Given the description of an element on the screen output the (x, y) to click on. 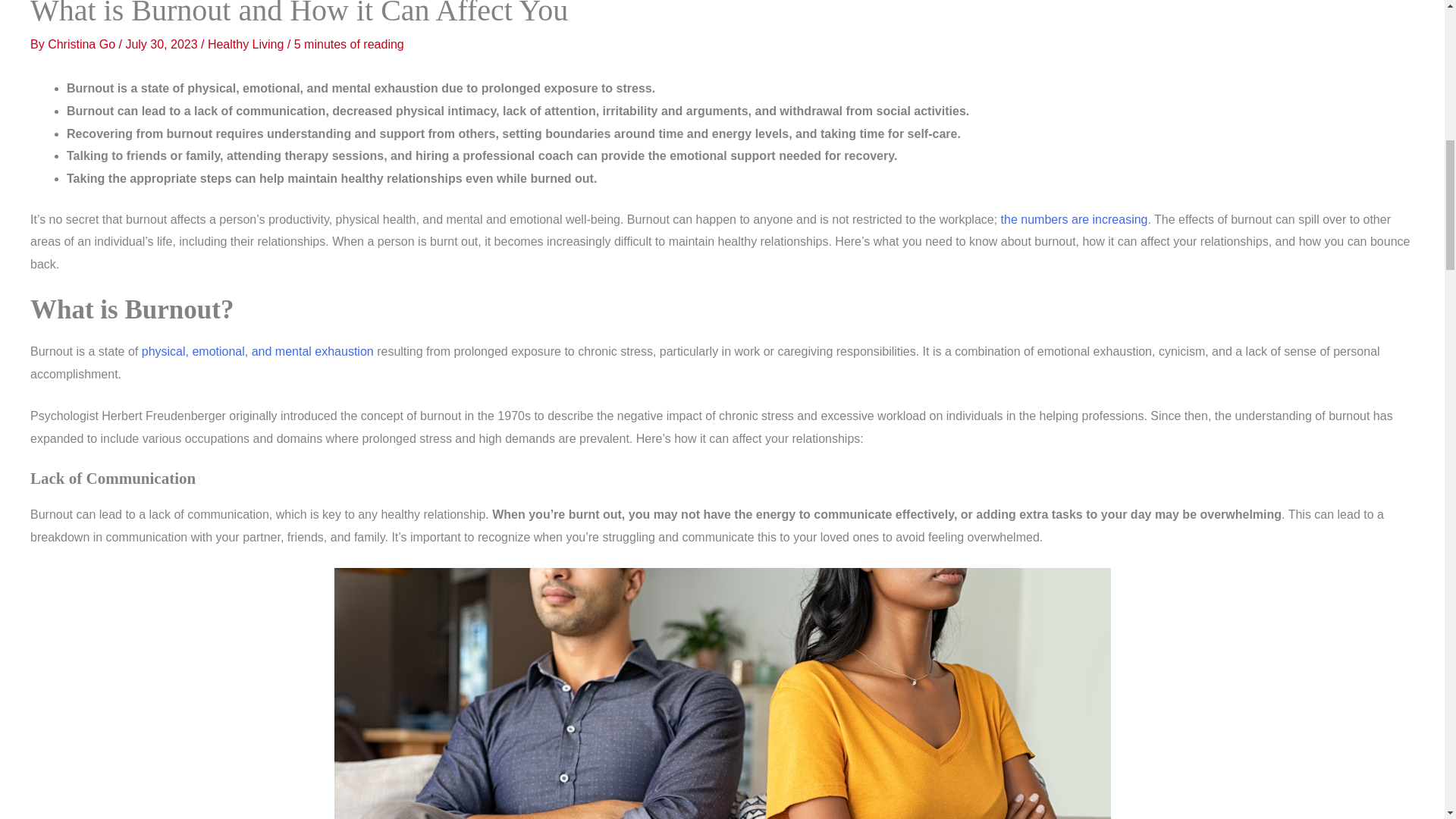
Christina Go (82, 43)
the numbers are increasing (1074, 219)
Healthy Living (245, 43)
View all posts by Christina Go (82, 43)
physical, emotional, and mental exhaustion (257, 350)
